Given the description of an element on the screen output the (x, y) to click on. 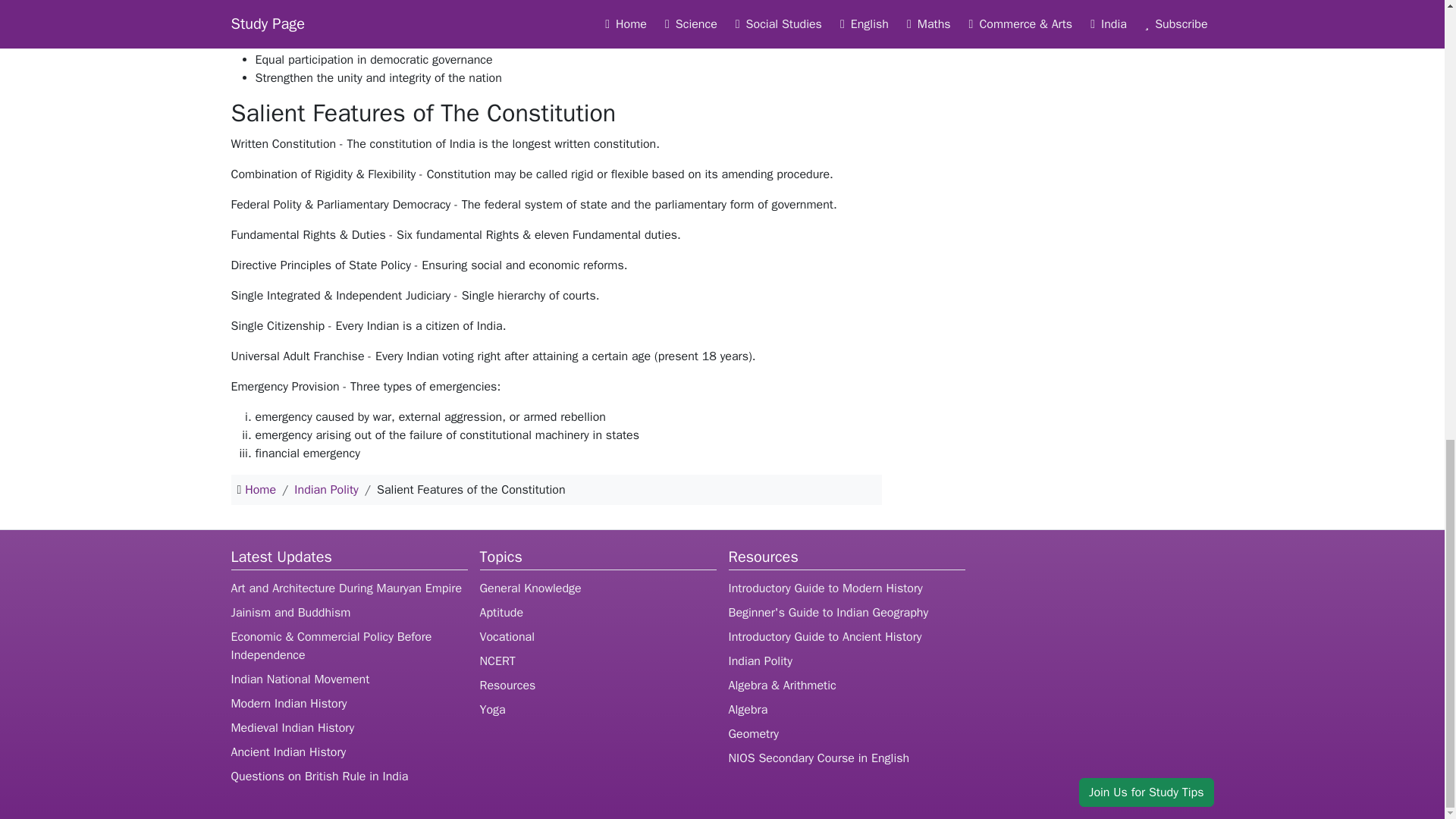
Algebra (747, 709)
Indian National Movement (299, 679)
NIOS Secondary Course in English (818, 758)
Ancient Indian History (288, 752)
Indian Polity (760, 661)
Modern Indian History (288, 703)
Jainism and Buddhism (290, 612)
Resources (507, 685)
Home (260, 489)
Art and Architecture During Mauryan Empire (345, 588)
General Knowledge (529, 588)
NCERT (497, 661)
Indian National Movement (299, 679)
Beginner's Guide to Indian Geography (828, 612)
Questions on British Rule in India (318, 776)
